Given the description of an element on the screen output the (x, y) to click on. 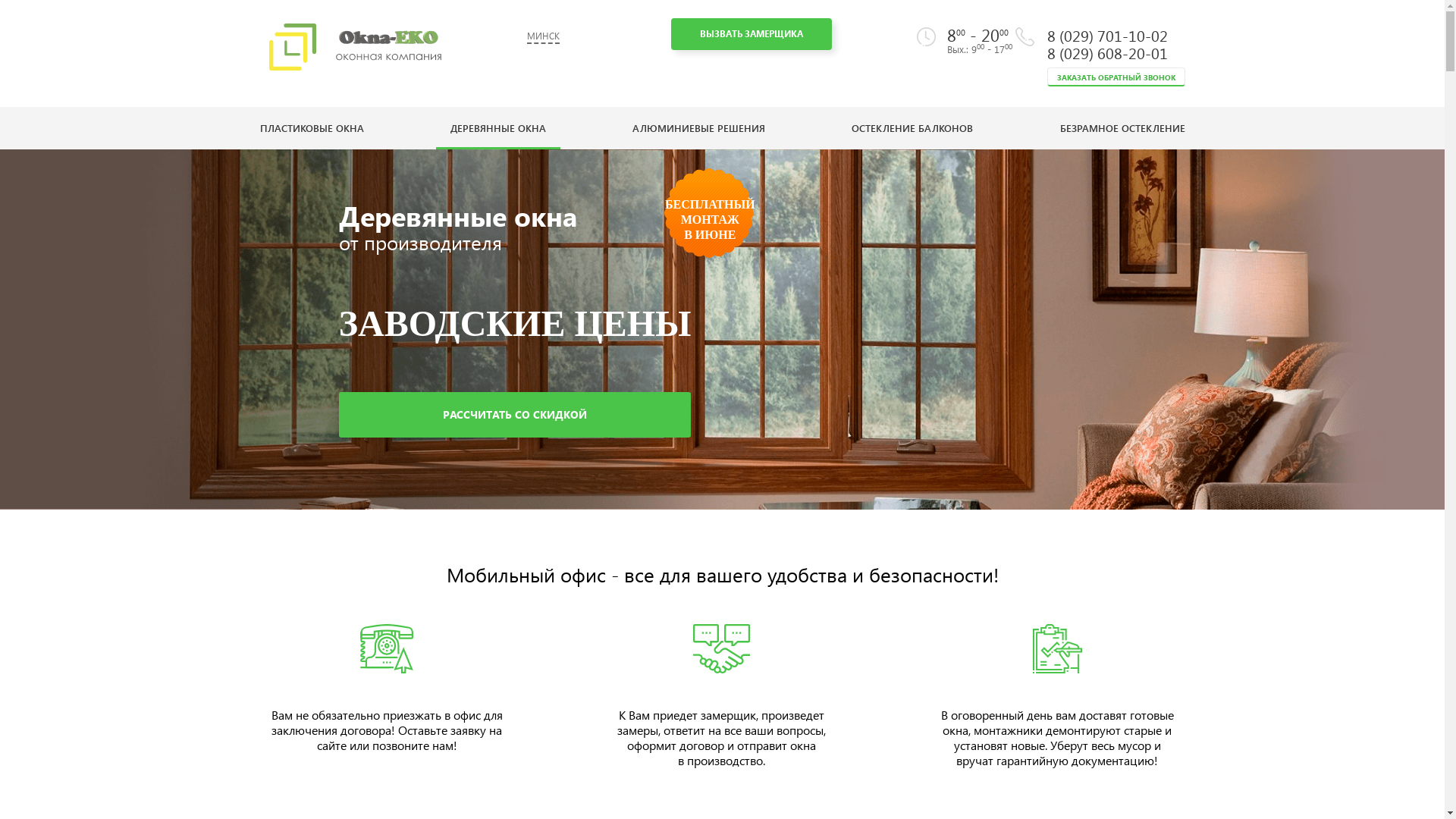
8 (029) 608-20-01 Element type: text (1106, 51)
8 (029) 701-10-02 Element type: text (1106, 34)
